Given the description of an element on the screen output the (x, y) to click on. 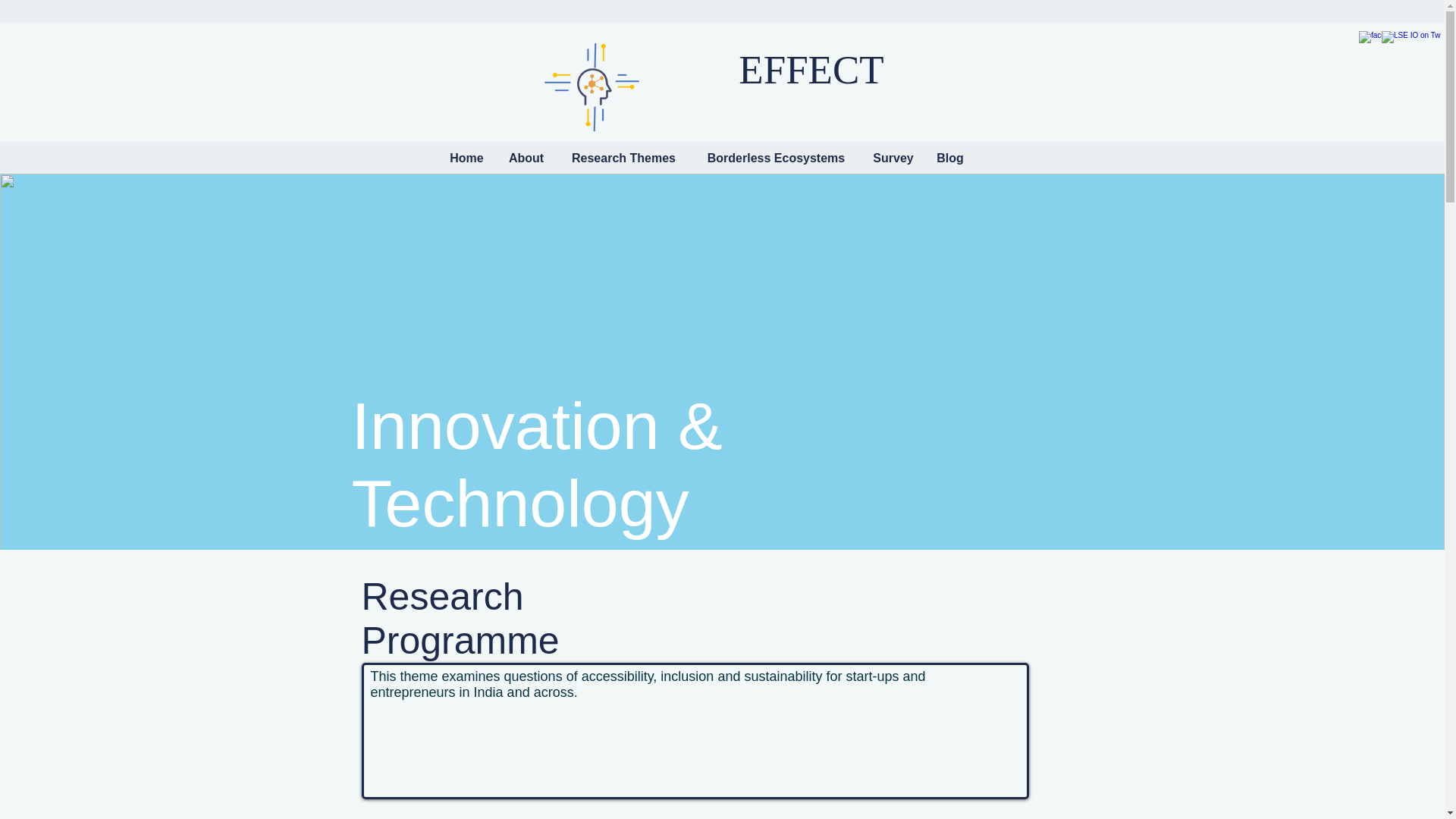
About (526, 158)
Borderless Ecosystems (776, 158)
Blog (949, 158)
Survey (893, 158)
Home (466, 158)
EFFECT (810, 69)
